Given the description of an element on the screen output the (x, y) to click on. 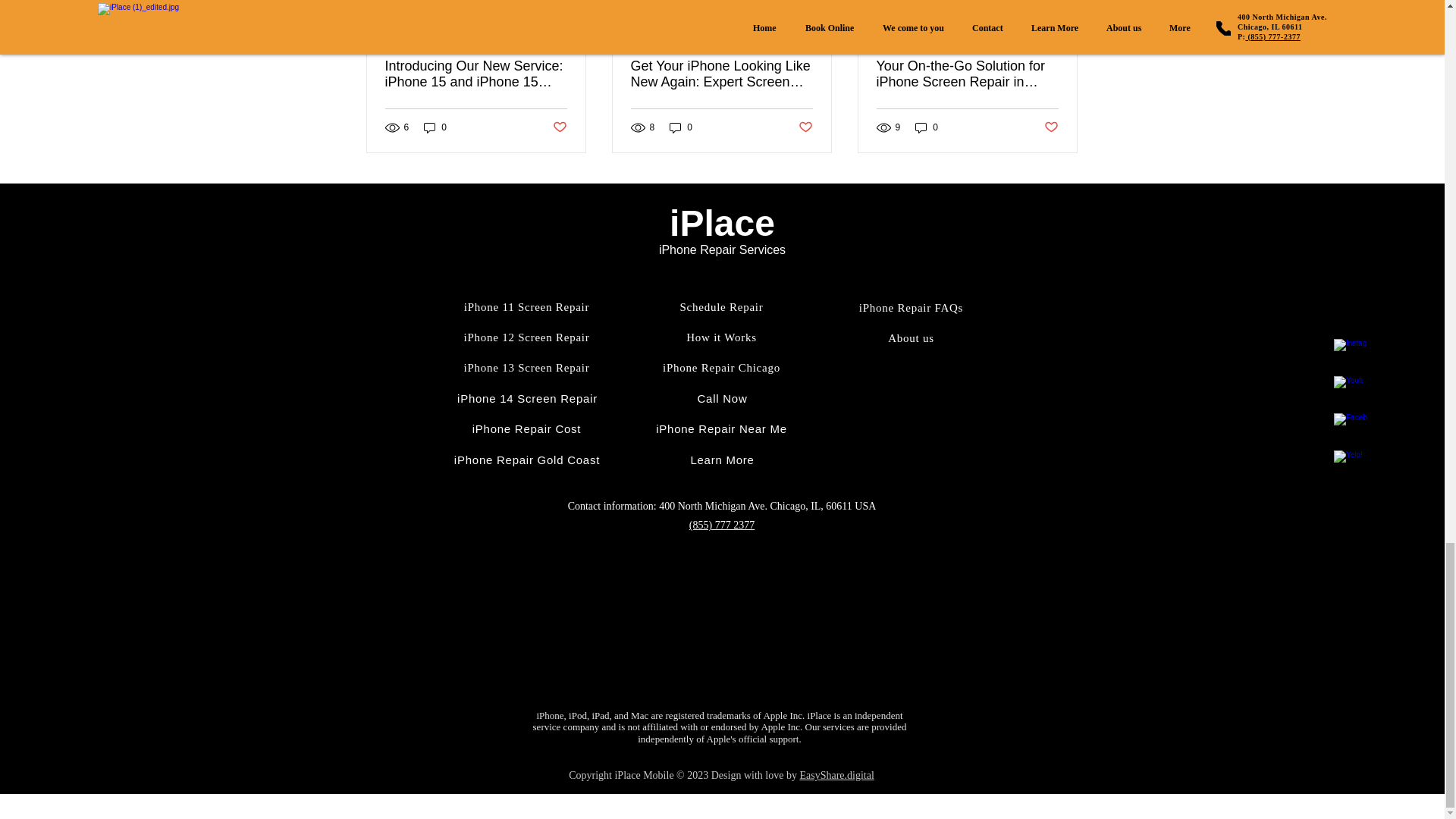
0 (435, 126)
Post not marked as liked (558, 127)
